Given the description of an element on the screen output the (x, y) to click on. 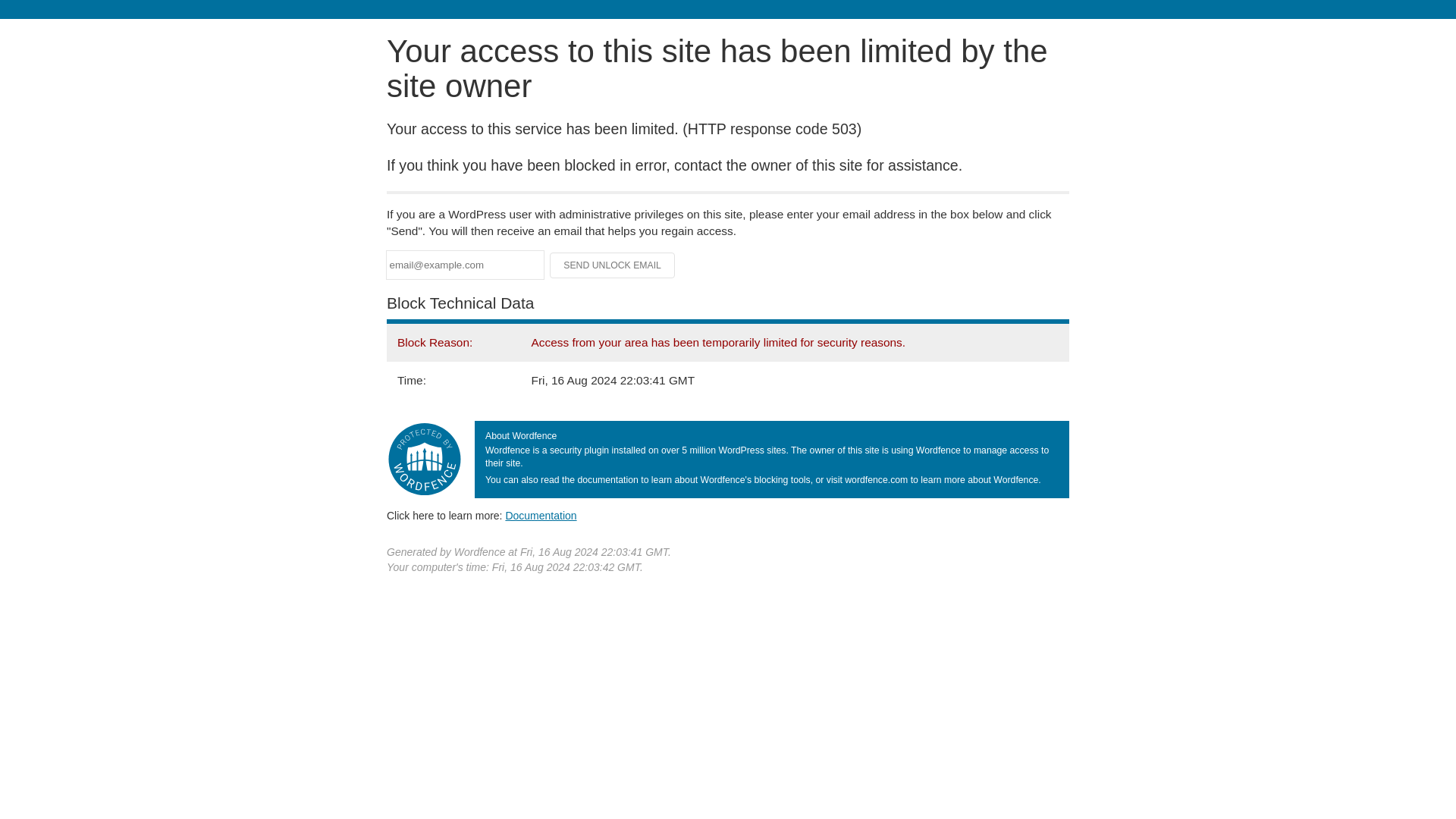
Documentation (540, 515)
Send Unlock Email (612, 265)
Send Unlock Email (612, 265)
